Given the description of an element on the screen output the (x, y) to click on. 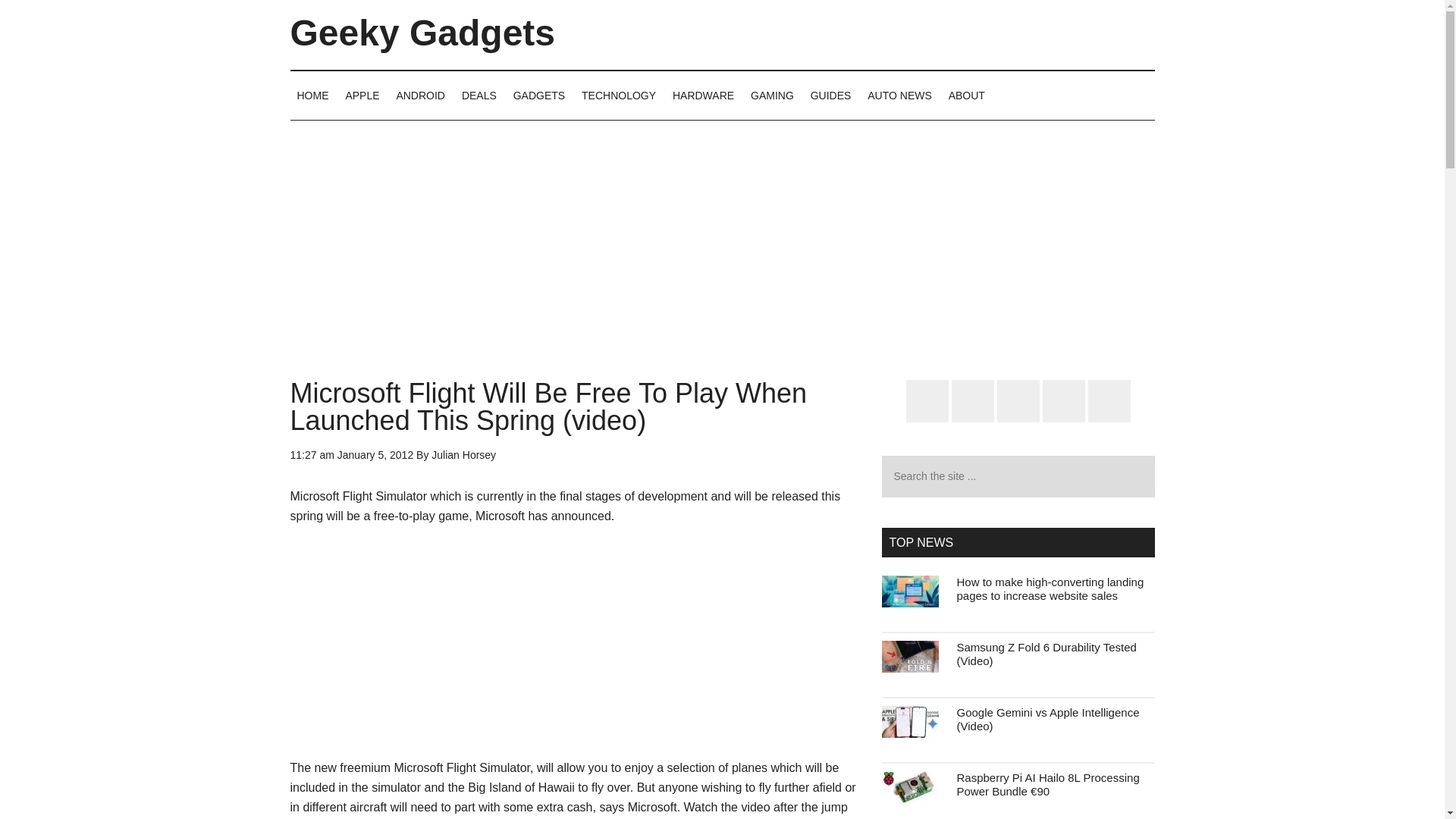
TECHNOLOGY (618, 95)
HARDWARE (703, 95)
AUTO NEWS (899, 95)
APPLE (361, 95)
Geeky Gadgets (421, 33)
ANDROID (419, 95)
GADGETS (539, 95)
About Geeky Gadgets (966, 95)
DEALS (478, 95)
ABOUT (966, 95)
GAMING (772, 95)
